Given the description of an element on the screen output the (x, y) to click on. 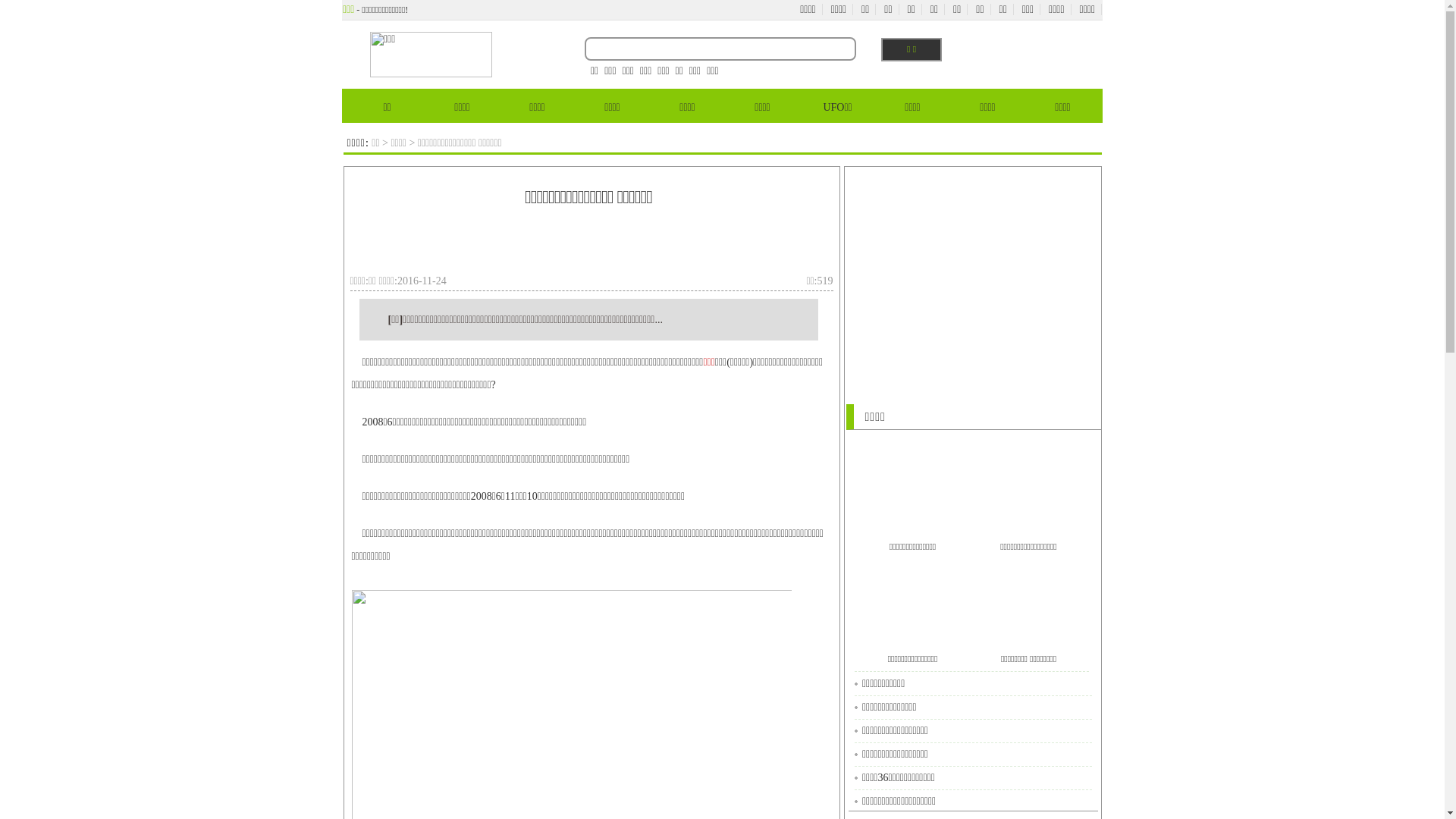
Advertisement Element type: hover (588, 245)
Advertisement Element type: hover (971, 274)
